Given the description of an element on the screen output the (x, y) to click on. 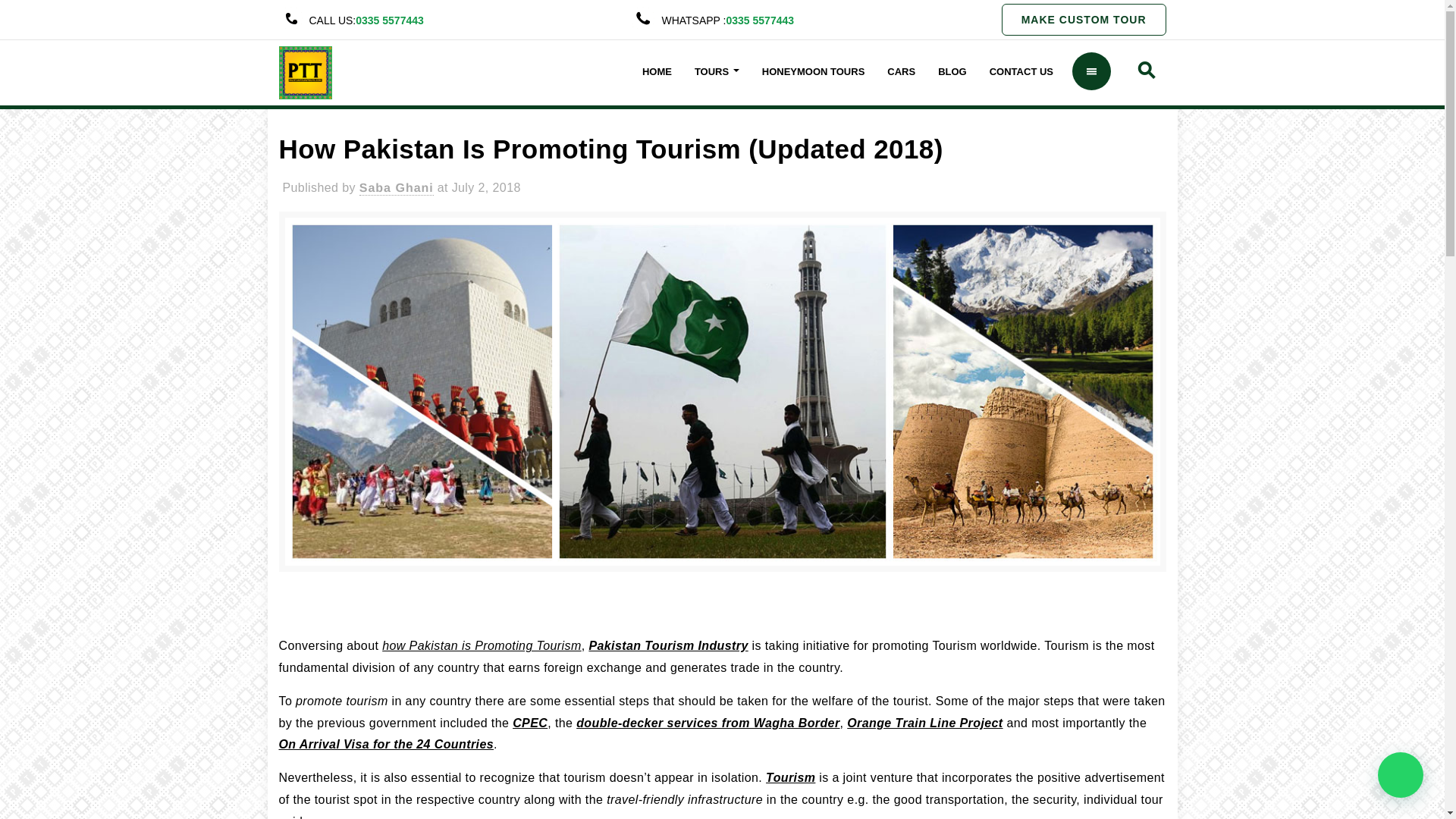
Contact Us (1021, 72)
Saba Ghani (396, 188)
HONEYMOON TOURS (813, 72)
CONTACT US (1021, 72)
Tours (716, 72)
0335 5577443 (759, 20)
Honeymoon Tours (813, 72)
MAKE CUSTOM TOUR (1083, 20)
TOURS (716, 72)
0335 5577443 (389, 20)
Pakistan Tour and Travel (305, 71)
